Given the description of an element on the screen output the (x, y) to click on. 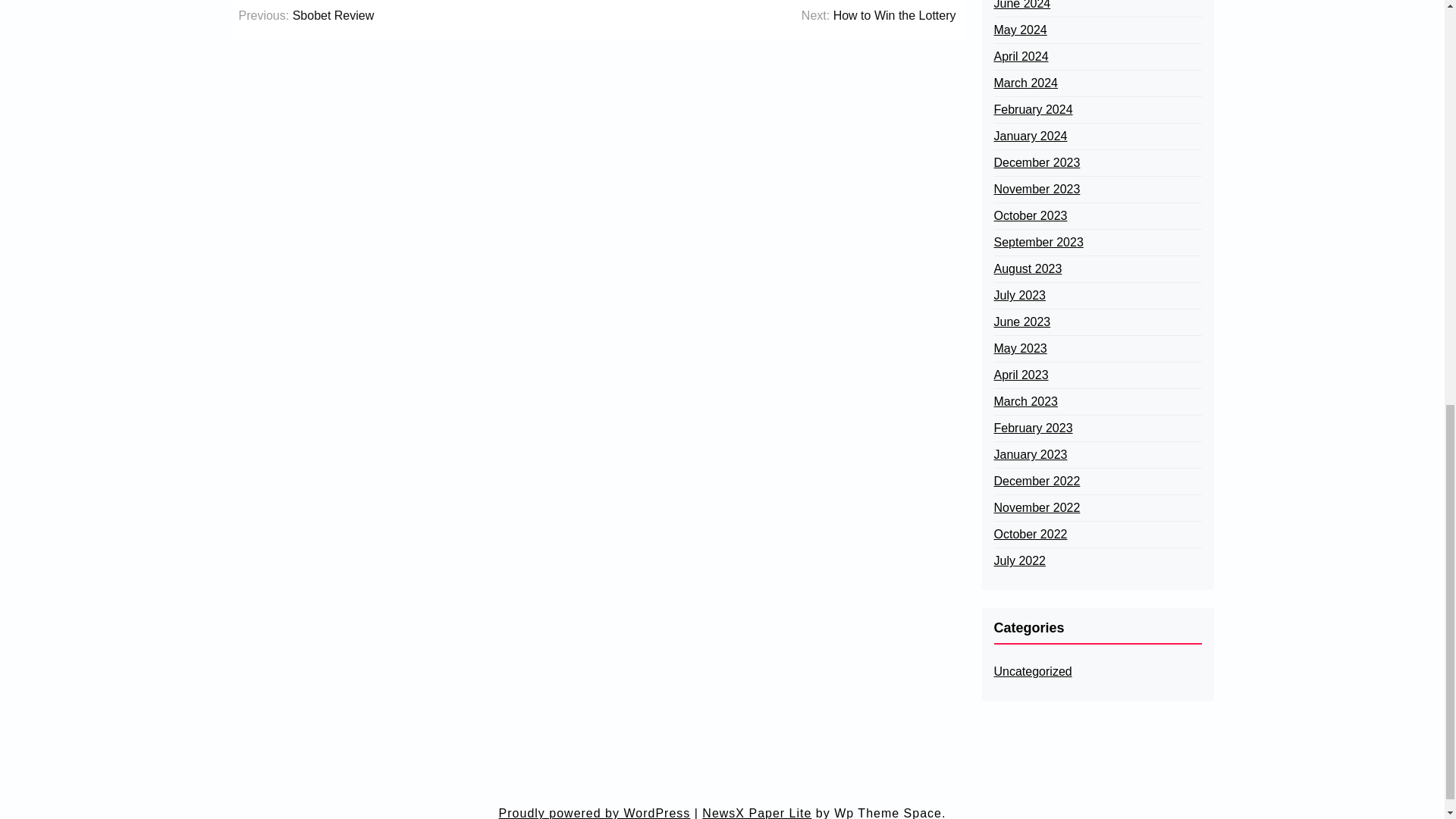
November 2022 (1036, 507)
January 2023 (1029, 454)
August 2023 (1026, 269)
February 2024 (1031, 109)
Previous: Sbobet Review (306, 14)
April 2023 (1020, 375)
April 2024 (1020, 56)
May 2023 (1019, 348)
February 2023 (1031, 428)
January 2024 (1029, 136)
March 2023 (1025, 402)
October 2023 (1029, 216)
November 2023 (1036, 189)
July 2023 (1018, 295)
March 2024 (1025, 83)
